Given the description of an element on the screen output the (x, y) to click on. 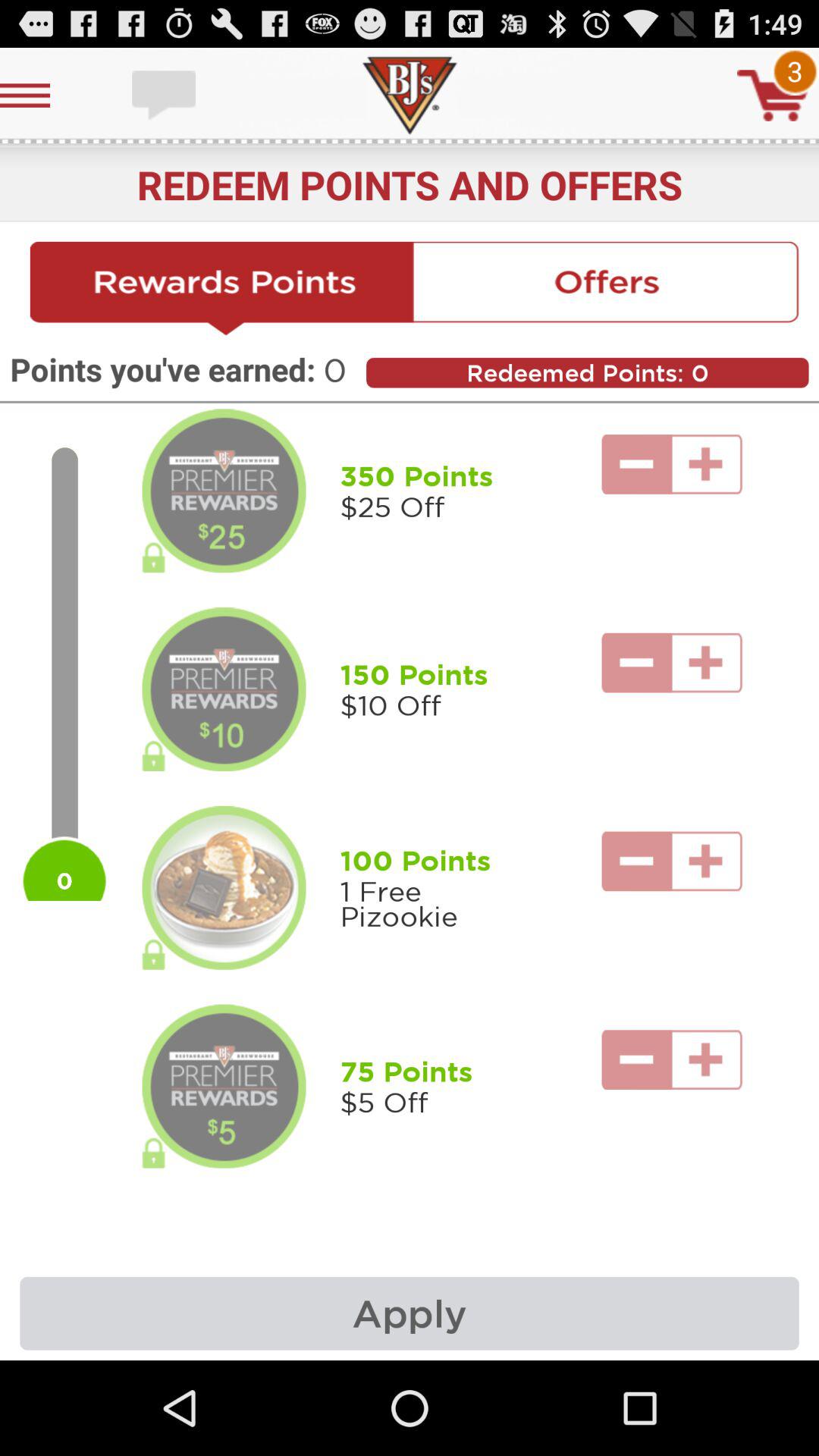
message page (165, 95)
